Given the description of an element on the screen output the (x, y) to click on. 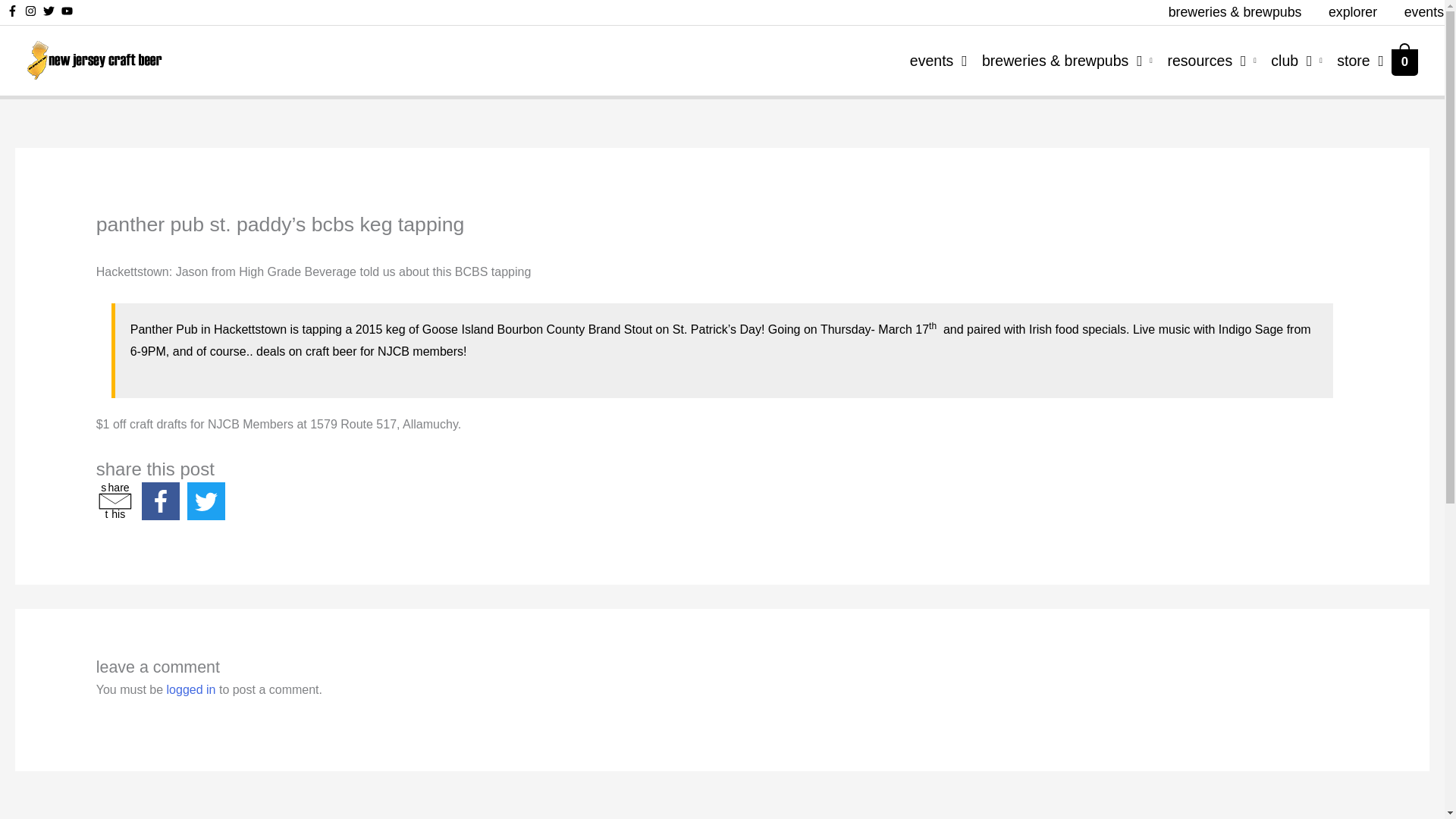
events (1417, 11)
events   (930, 60)
explorer (1352, 11)
NJCB Store (114, 501)
New Jersey Breweries and Brewpubs (1353, 60)
club   (1058, 60)
NJCB Events and News (1289, 60)
NJCB Beer Resources (930, 60)
NJCB Membership Club (1204, 60)
resources   (1289, 60)
